Given the description of an element on the screen output the (x, y) to click on. 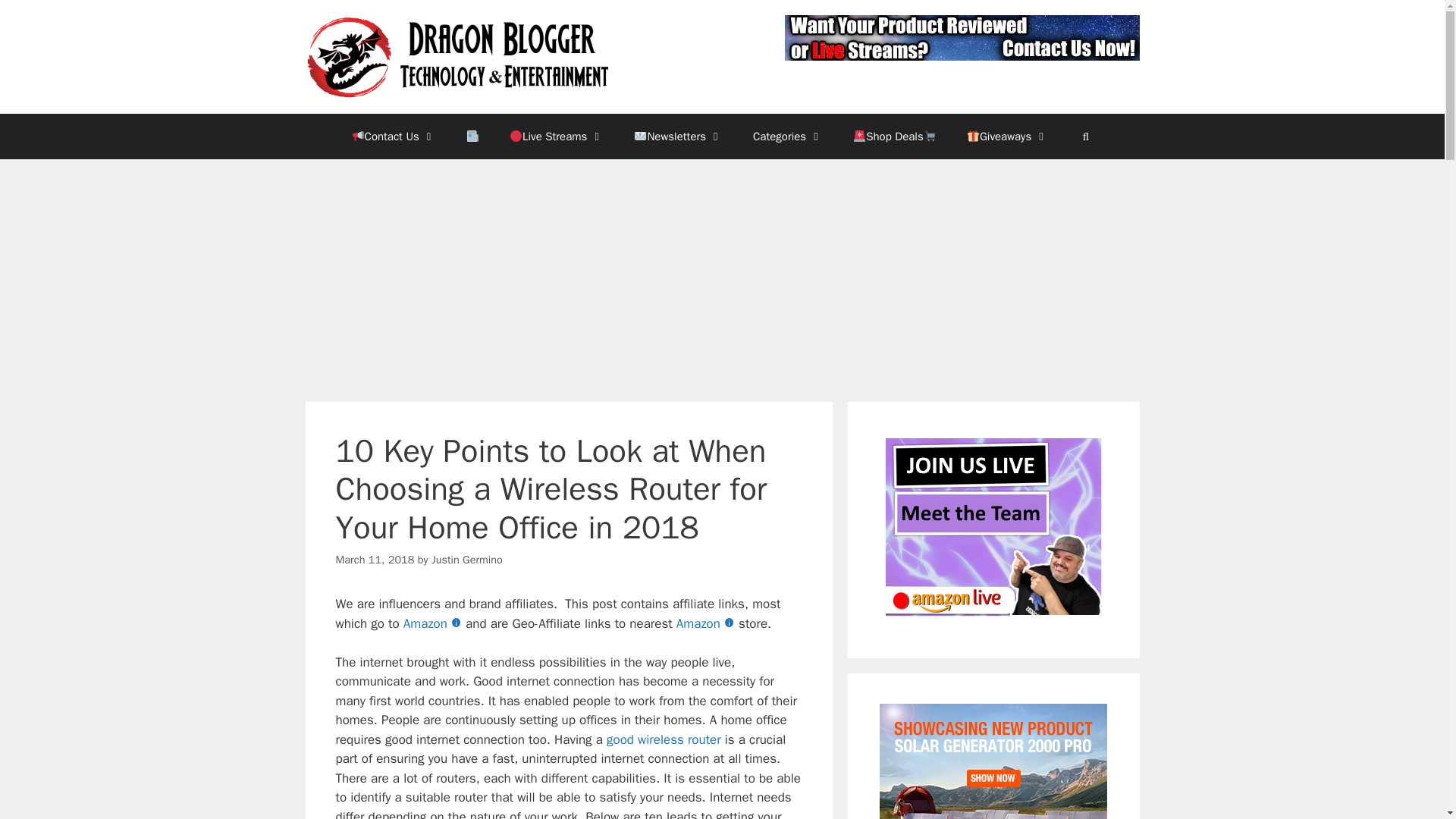
Amazon Homepage (707, 623)
Categories (788, 135)
Contact Us (393, 135)
Amazon Homepage (434, 623)
Newsletters (678, 135)
Live Streams (556, 135)
View all posts by Justin Germino (466, 559)
